Given the description of an element on the screen output the (x, y) to click on. 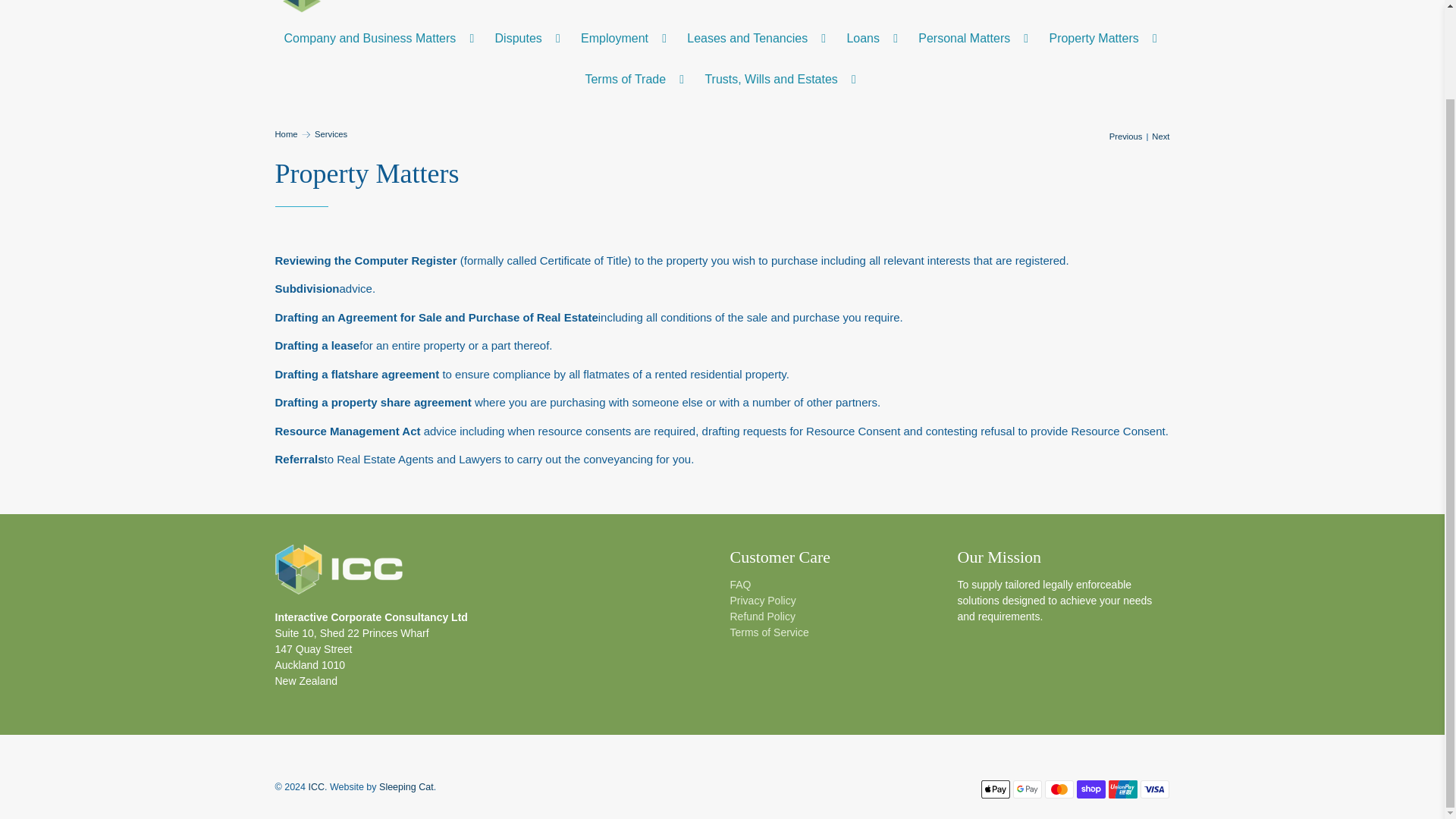
Next (1160, 136)
Apple Pay (995, 789)
ICC (286, 134)
Google Pay (1027, 789)
Personal Matters (975, 38)
ICC (346, 6)
Disputes (529, 38)
Union Pay (1122, 789)
Services (330, 134)
ICC (338, 576)
Visa (1154, 789)
Previous (1125, 136)
Company and Business Matters (380, 38)
Leases and Tenancies (758, 38)
Employment (625, 38)
